Given the description of an element on the screen output the (x, y) to click on. 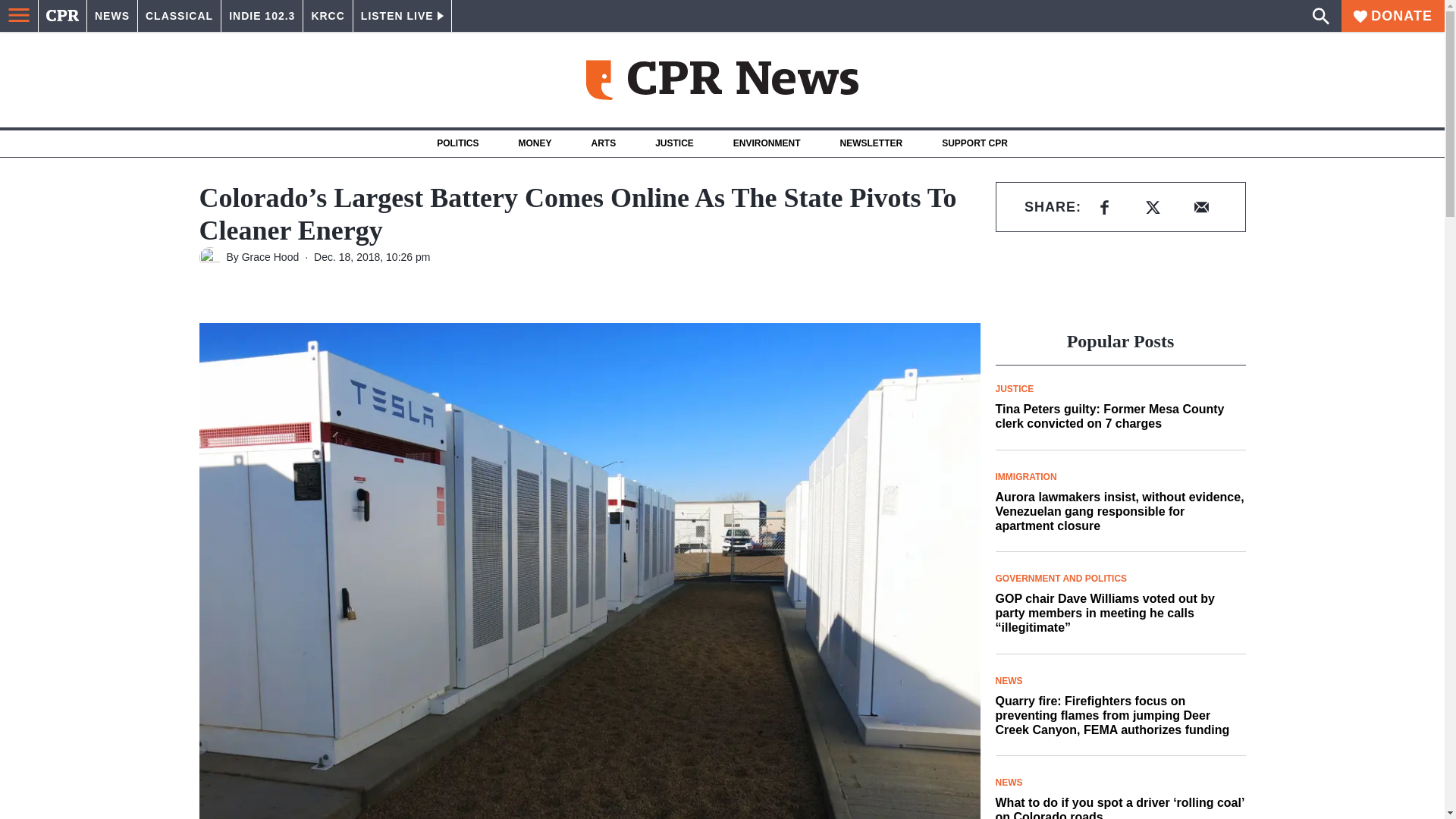
KRCC (327, 15)
CLASSICAL (179, 15)
NEWS (111, 15)
LISTEN LIVE (402, 15)
INDIE 102.3 (261, 15)
